Given the description of an element on the screen output the (x, y) to click on. 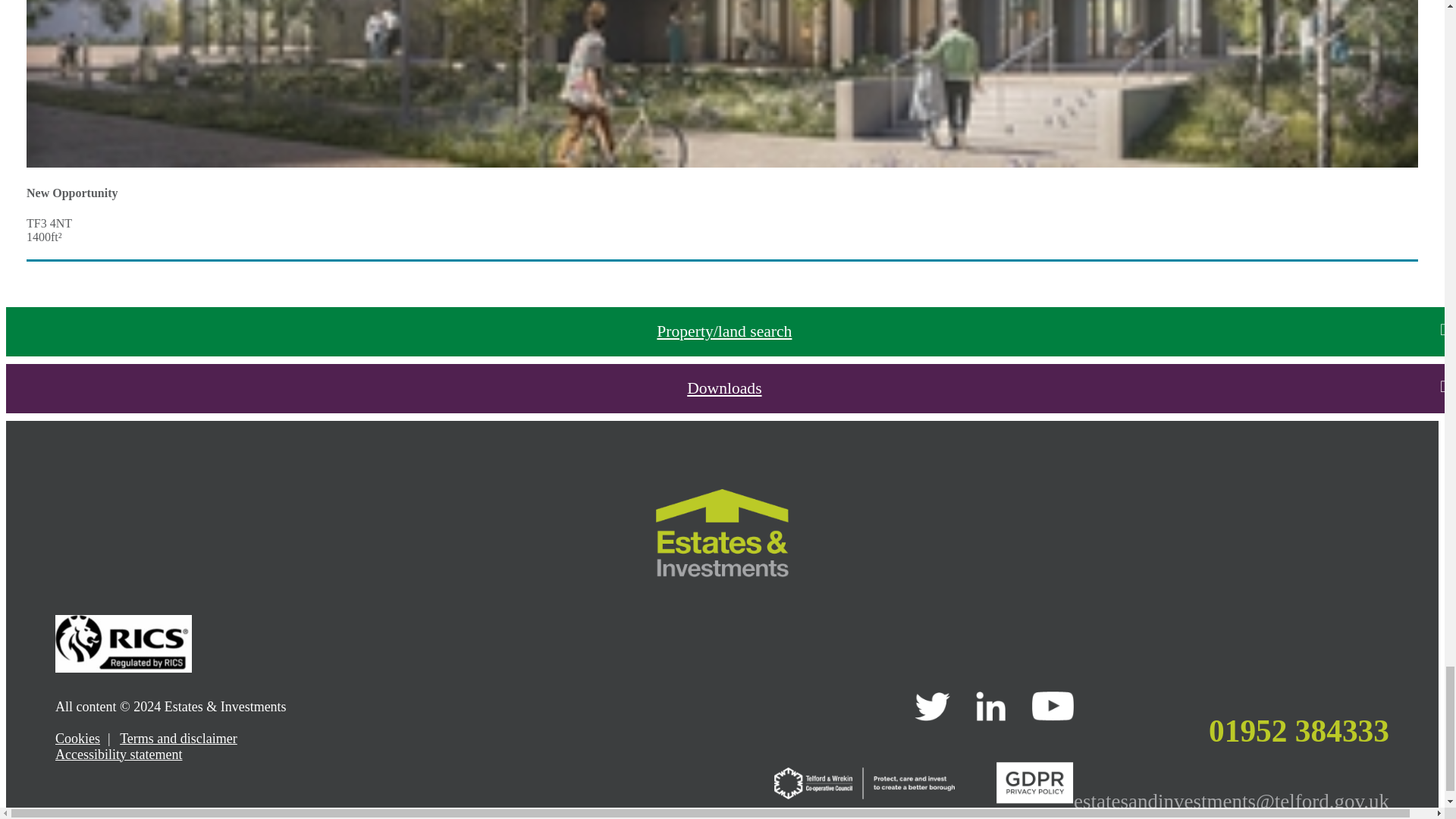
Follow us on Twitter (932, 716)
Accessibility statement (118, 754)
View our linkedIn page (990, 716)
Watch our videos on YouTube (1053, 716)
